Given the description of an element on the screen output the (x, y) to click on. 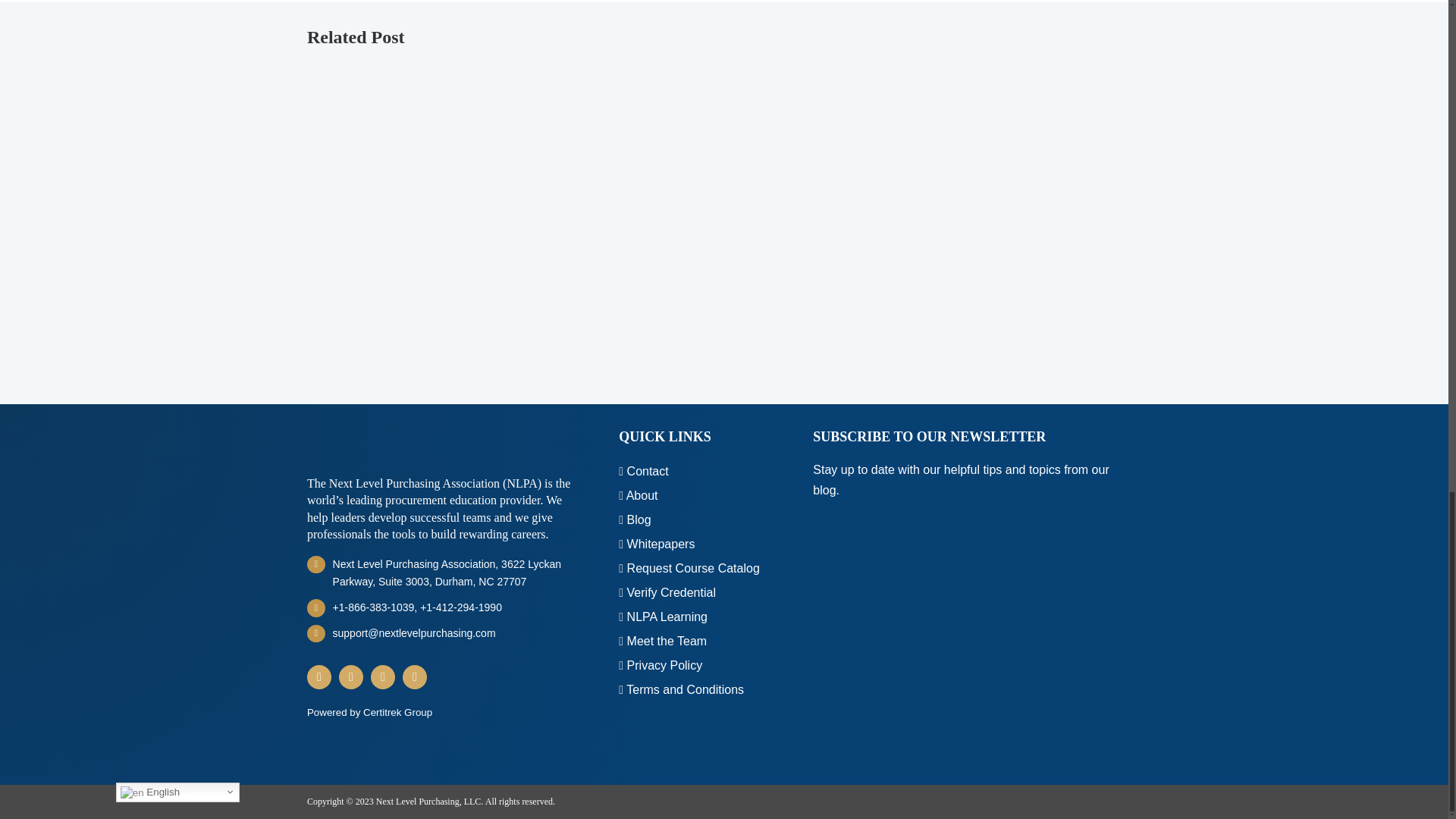
Facebook (350, 677)
LinkedIn (319, 677)
YouTube (414, 677)
Twitter (382, 677)
white-logo (360, 444)
